Given the description of an element on the screen output the (x, y) to click on. 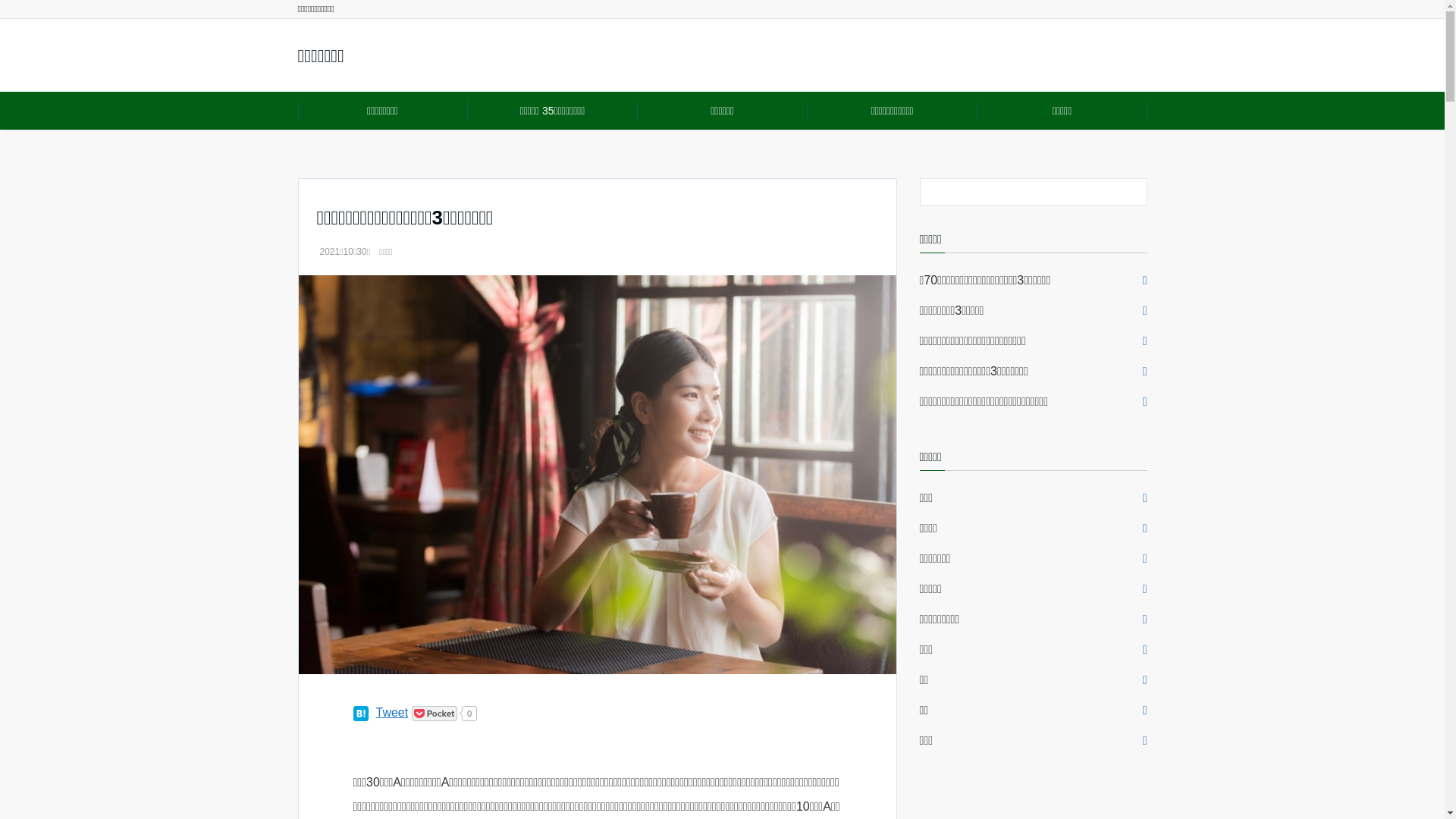
Tweet Element type: text (392, 712)
